Given the description of an element on the screen output the (x, y) to click on. 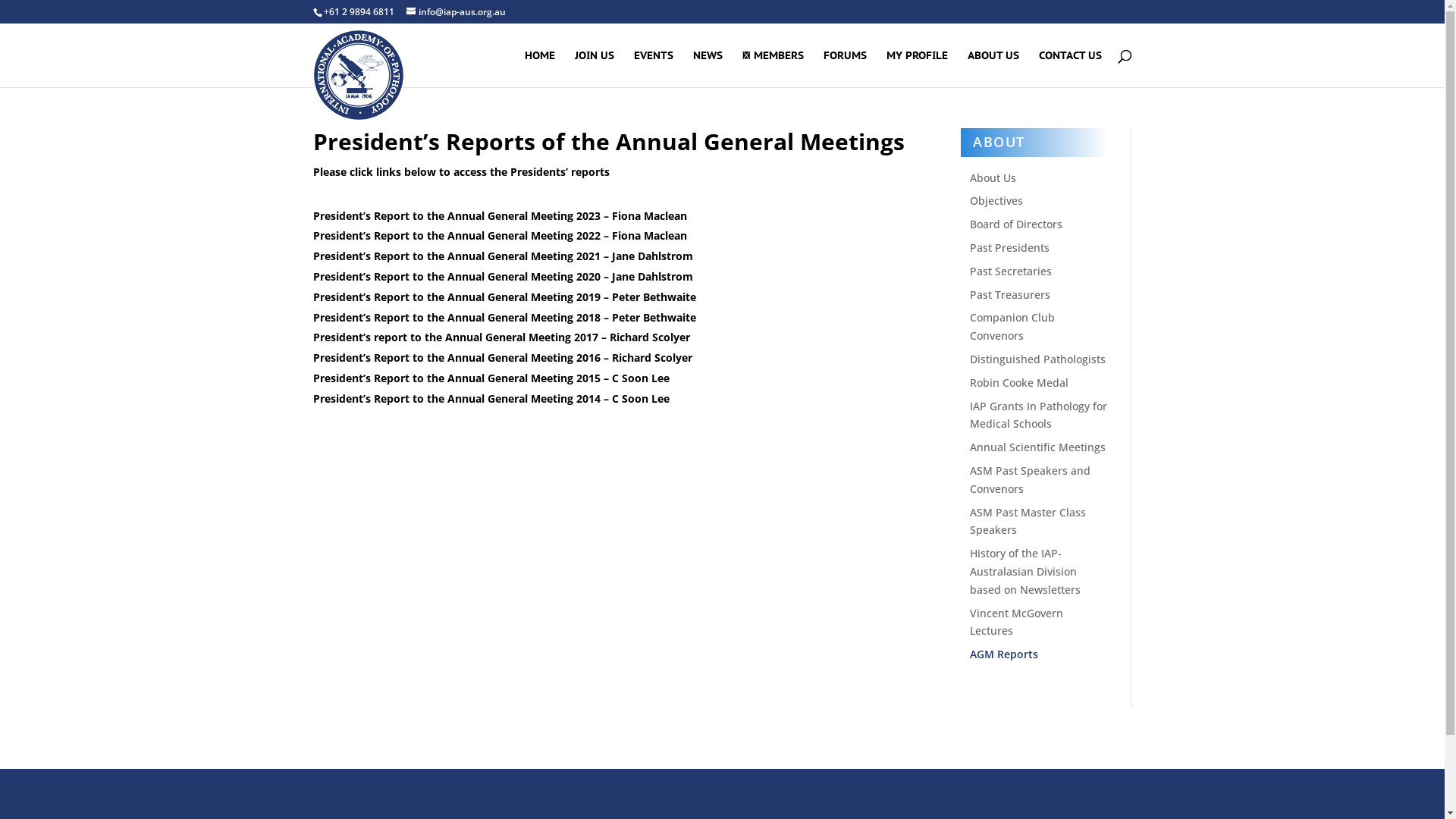
EVENTS Element type: text (653, 68)
JOIN US Element type: text (594, 68)
MEMBERS Element type: text (772, 68)
ABOUT US Element type: text (993, 68)
Companion Club Convenors Element type: text (1011, 326)
Annual Scientific Meetings Element type: text (1037, 446)
AGM Reports Element type: text (1003, 653)
ASM Past Speakers and Convenors Element type: text (1029, 479)
IAP Grants In Pathology for Medical Schools Element type: text (1038, 414)
Past Presidents Element type: text (1009, 247)
ASM Past Master Class Speakers Element type: text (1027, 521)
info@iap-aus.org.au Element type: text (455, 11)
HOME Element type: text (539, 68)
MY PROFILE Element type: text (916, 68)
Robin Cooke Medal Element type: text (1018, 382)
FORUMS Element type: text (844, 68)
Board of Directors Element type: text (1015, 223)
Past Treasurers Element type: text (1009, 294)
Objectives Element type: text (995, 200)
About Us Element type: text (992, 177)
Past Secretaries Element type: text (1010, 270)
NEWS Element type: text (707, 68)
Distinguished Pathologists Element type: text (1037, 358)
CONTACT US Element type: text (1069, 68)
Vincent McGovern Lectures Element type: text (1016, 621)
